Given the description of an element on the screen output the (x, y) to click on. 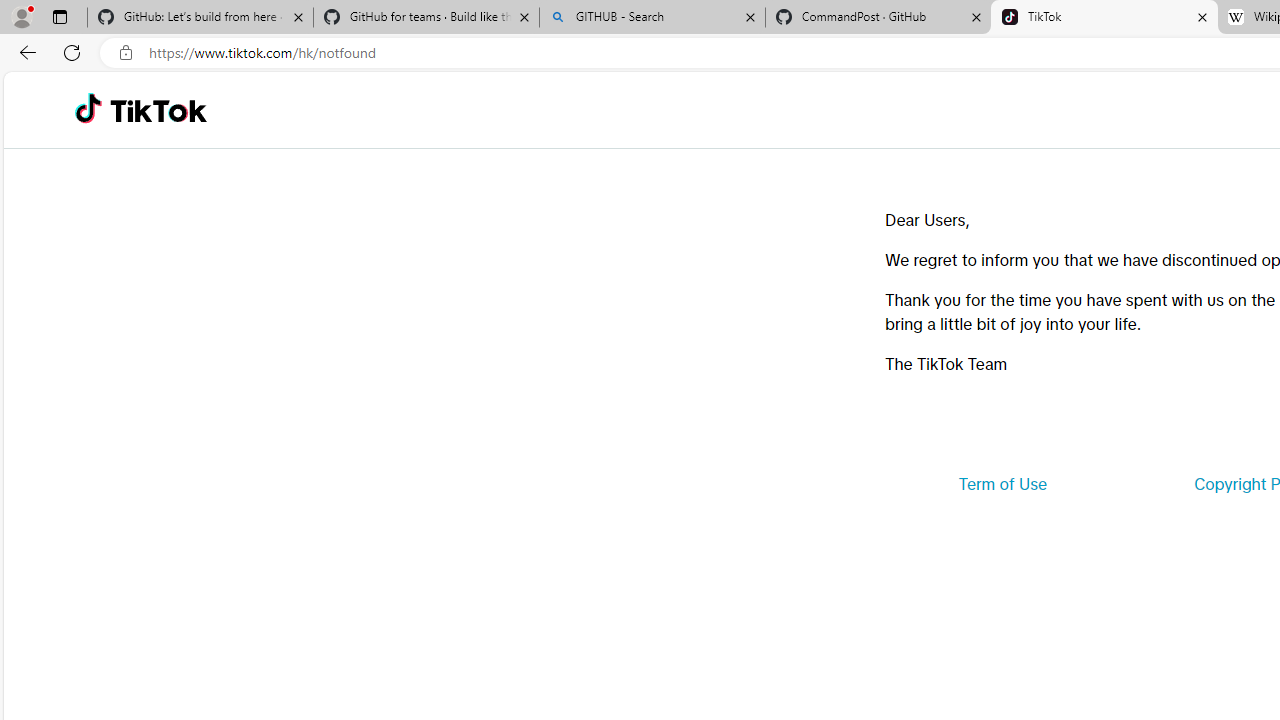
Term of Use (1002, 484)
GITHUB - Search (652, 17)
